Given the description of an element on the screen output the (x, y) to click on. 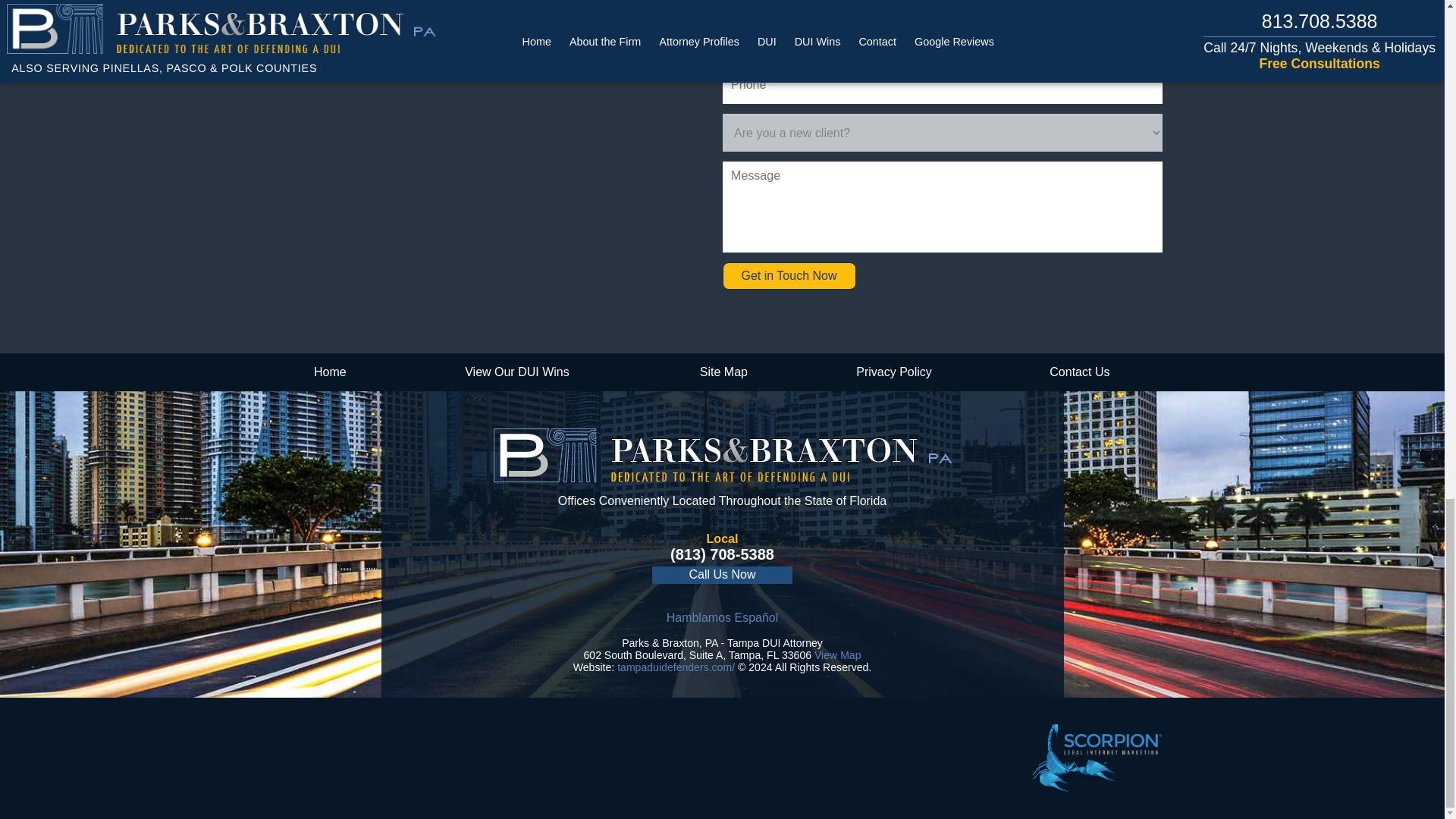
Privacy Policy (894, 371)
Site Map (723, 371)
Home (329, 371)
Get in Touch Now (789, 275)
Internet Marketing Experts (1095, 758)
View Our DUI Wins (516, 371)
Contact Us (1079, 371)
View Map (837, 654)
